Given the description of an element on the screen output the (x, y) to click on. 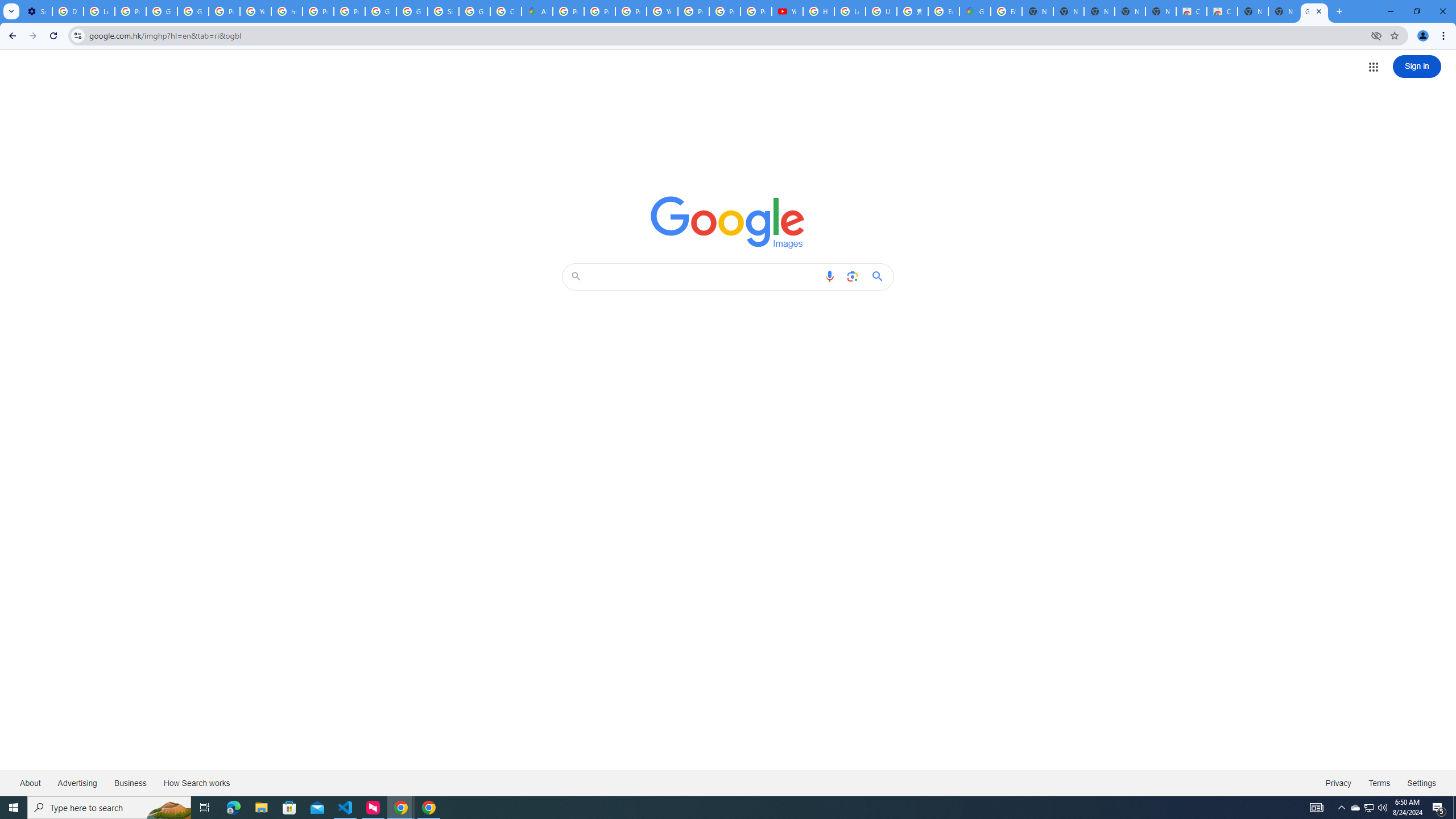
Business (129, 782)
How Search works (196, 782)
New Tab (1283, 11)
Google Images (727, 222)
Sign in - Google Accounts (443, 11)
Privacy Help Center - Policies Help (599, 11)
Classic Blue - Chrome Web Store (1222, 11)
Classic Blue - Chrome Web Store (1190, 11)
